Given the description of an element on the screen output the (x, y) to click on. 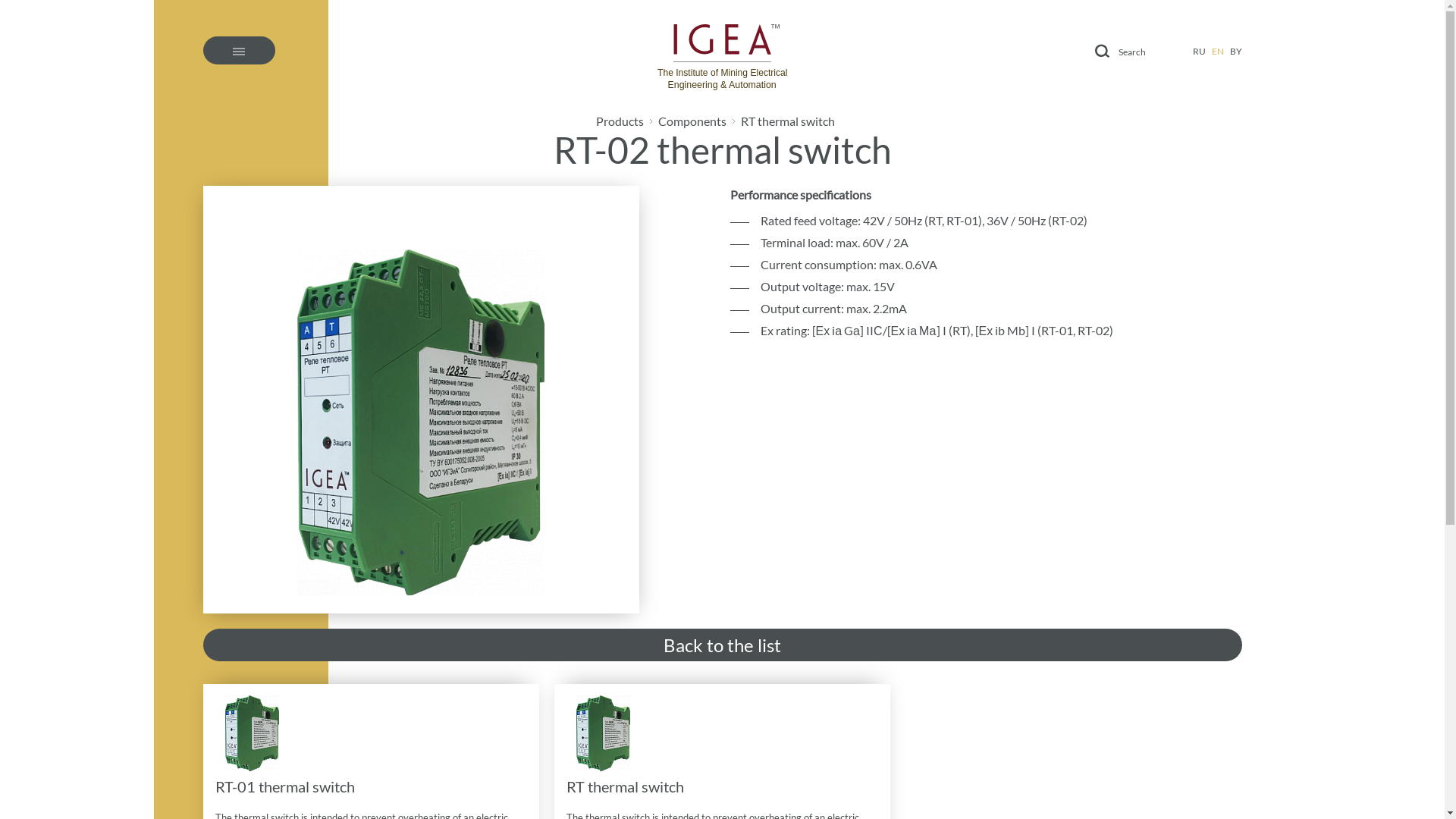
Products Element type: text (619, 121)
Back to the list Element type: text (722, 644)
Components Element type: text (692, 121)
RU Element type: text (1198, 50)
EN Element type: text (1217, 50)
RT thermal switch Element type: text (787, 121)
BY Element type: text (1236, 50)
